Given the description of an element on the screen output the (x, y) to click on. 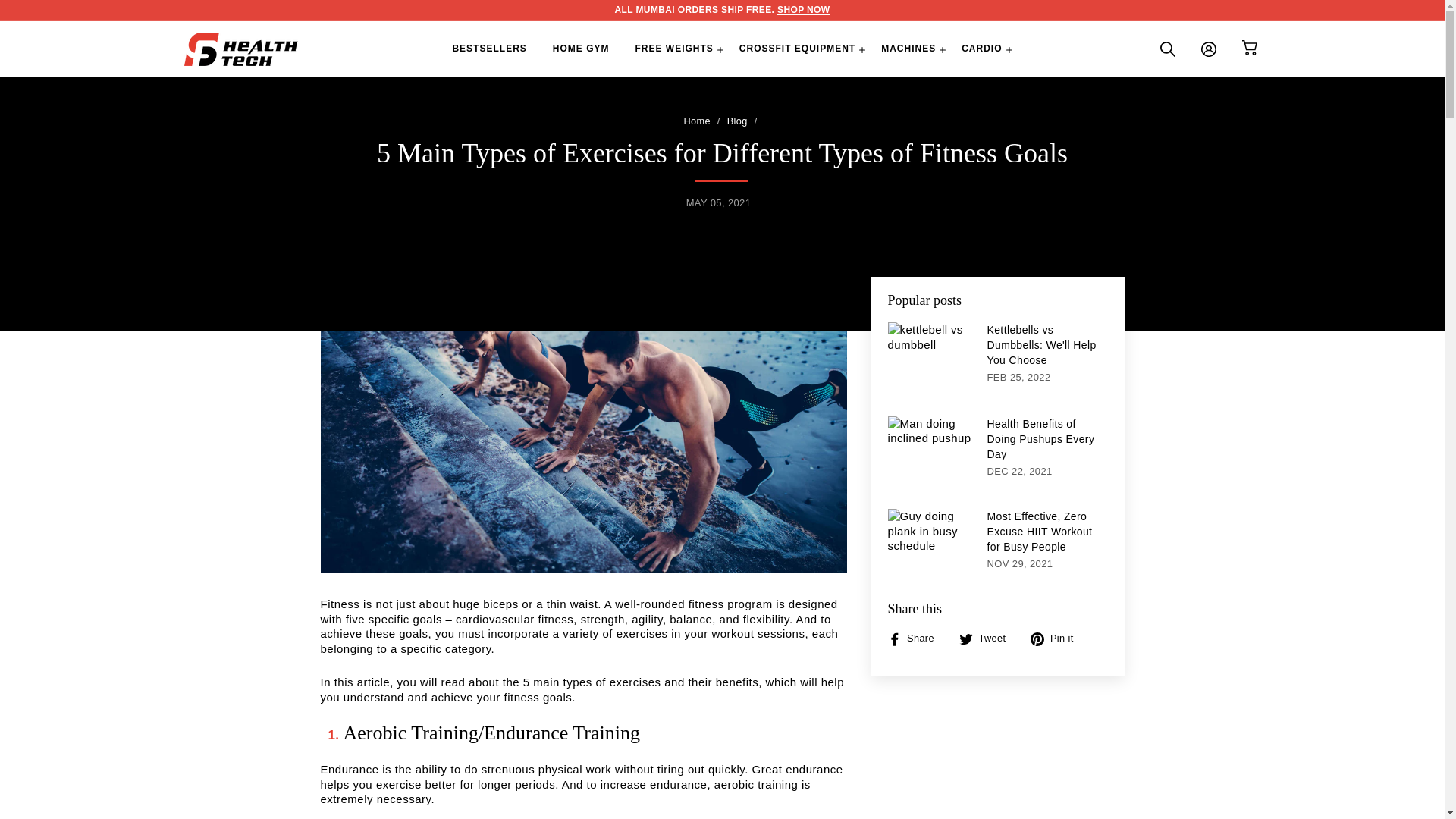
FREE WEIGHTS (673, 49)
HOME GYM (581, 49)
Tweet on Twitter (987, 638)
BESTSELLERS (488, 49)
SHOP NOW (803, 9)
Back to the frontpage (696, 120)
Crossfit Equipment (803, 9)
CROSSFIT EQUIPMENT (796, 49)
Pin on Pinterest (1057, 638)
Share on Facebook (915, 638)
ASSET 8 (1249, 47)
MACHINES (908, 49)
